Given the description of an element on the screen output the (x, y) to click on. 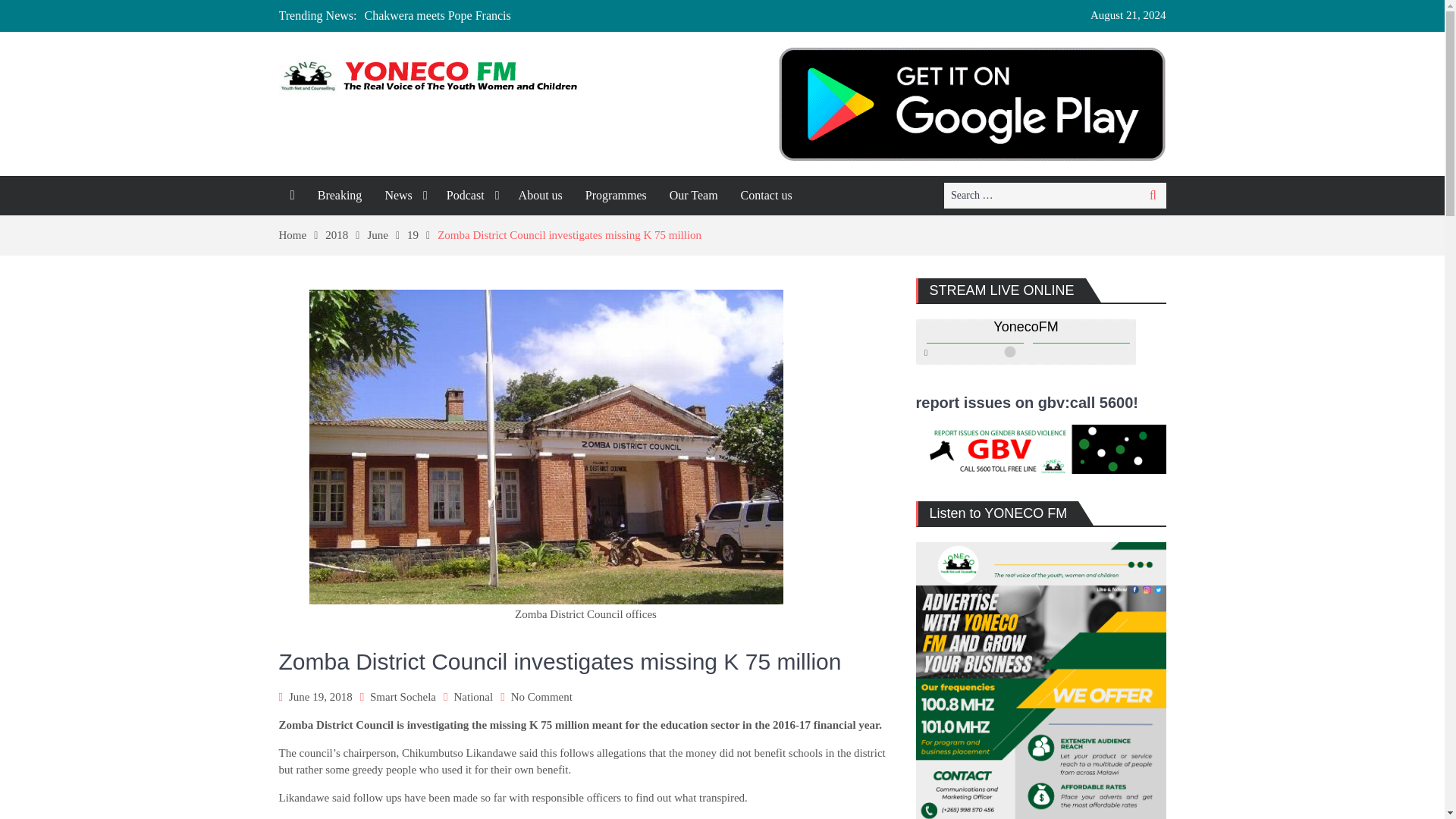
About us (539, 195)
News (402, 195)
Our Team (693, 195)
Chakwera meets Pope Francis (437, 15)
Smart Sochela (402, 696)
2018 (345, 234)
Contact us (766, 195)
19 (422, 234)
Podcast (470, 195)
